Given the description of an element on the screen output the (x, y) to click on. 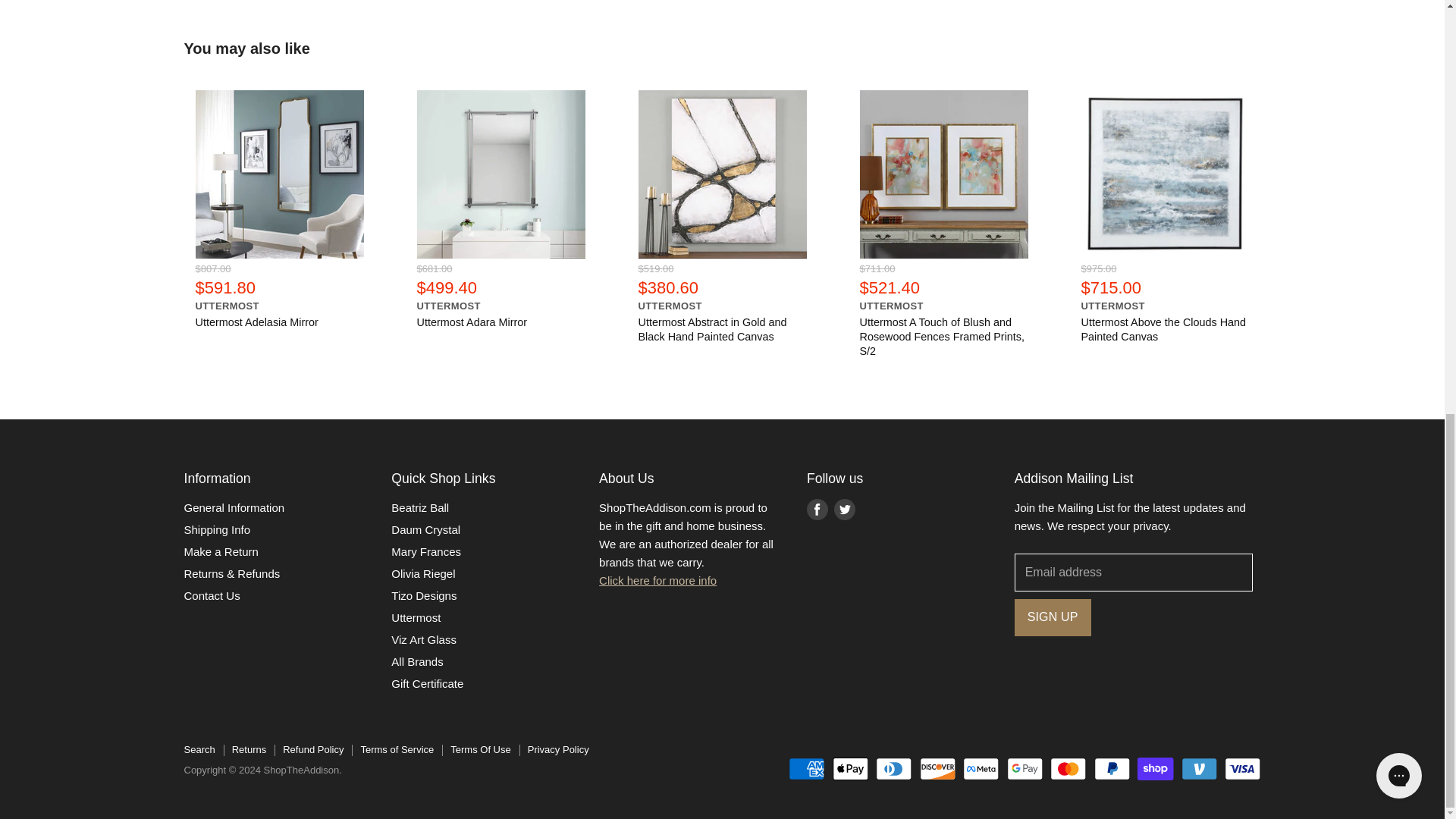
Twitter (845, 509)
About Us (657, 580)
Facebook (817, 509)
